Given the description of an element on the screen output the (x, y) to click on. 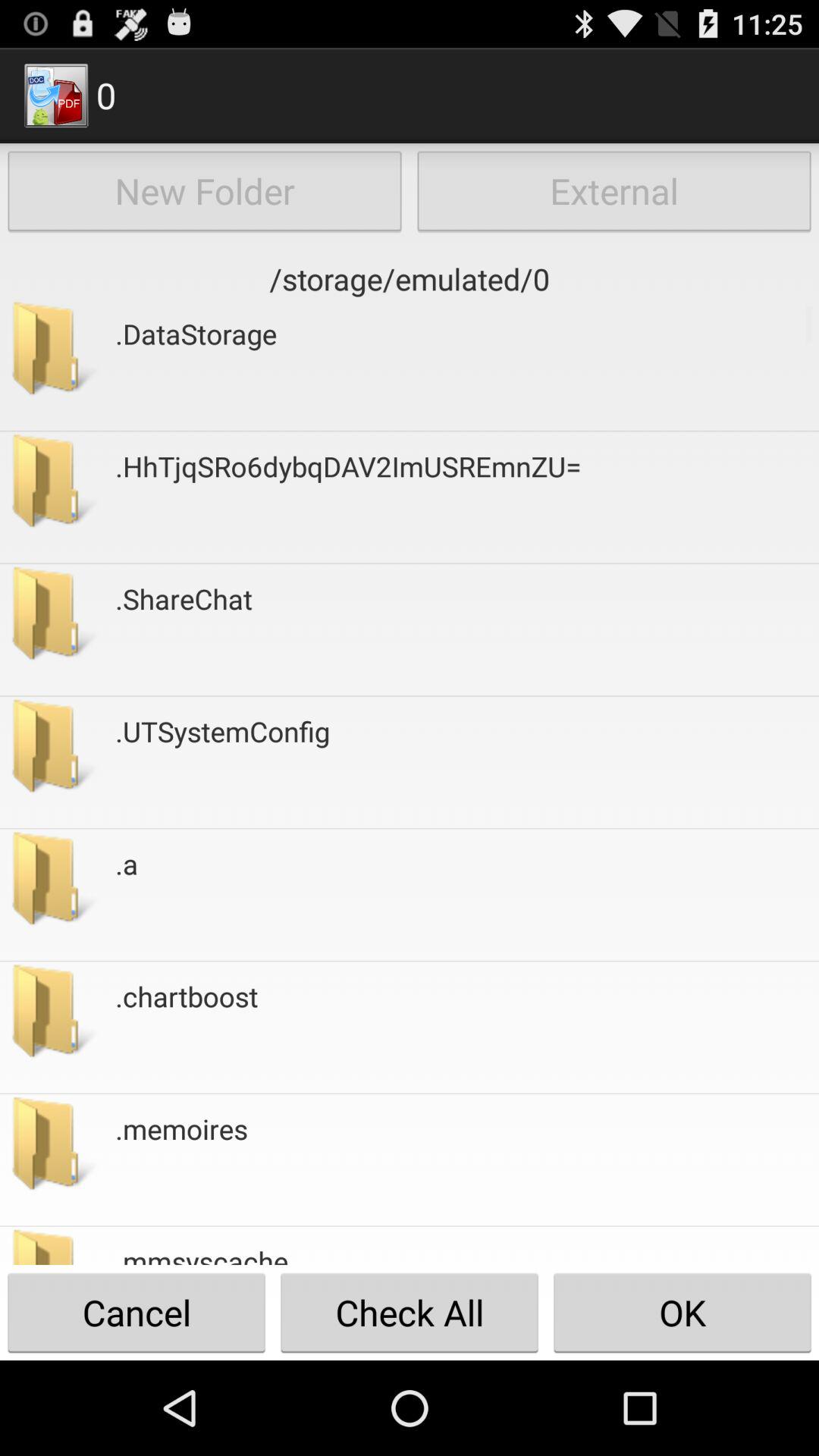
press the icon above the .hhtjqsro6dybqdav2imusremnzu= icon (195, 364)
